Given the description of an element on the screen output the (x, y) to click on. 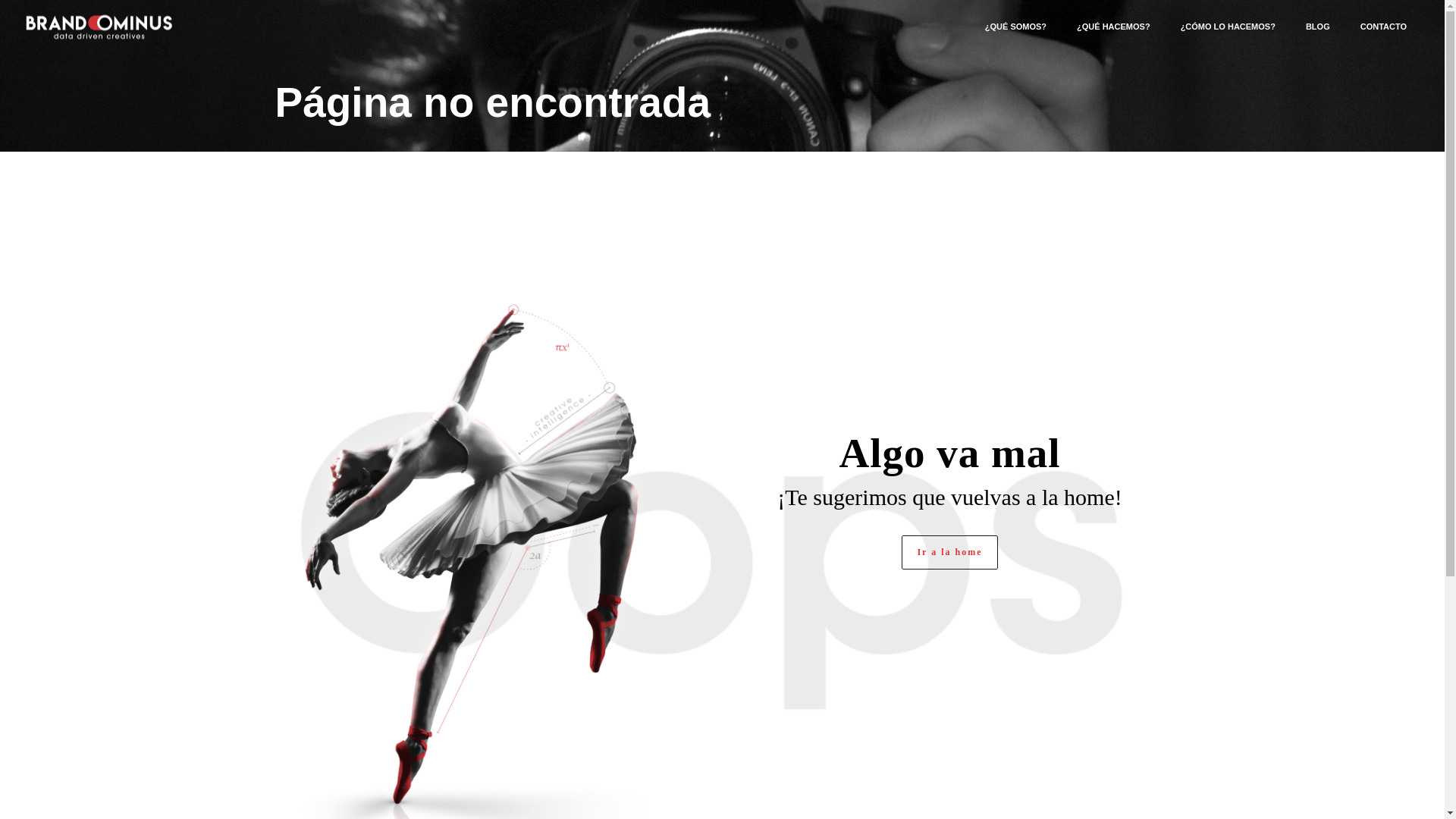
Ir a la home (949, 552)
CONTACTO (1383, 26)
BLOG (1317, 26)
